Given the description of an element on the screen output the (x, y) to click on. 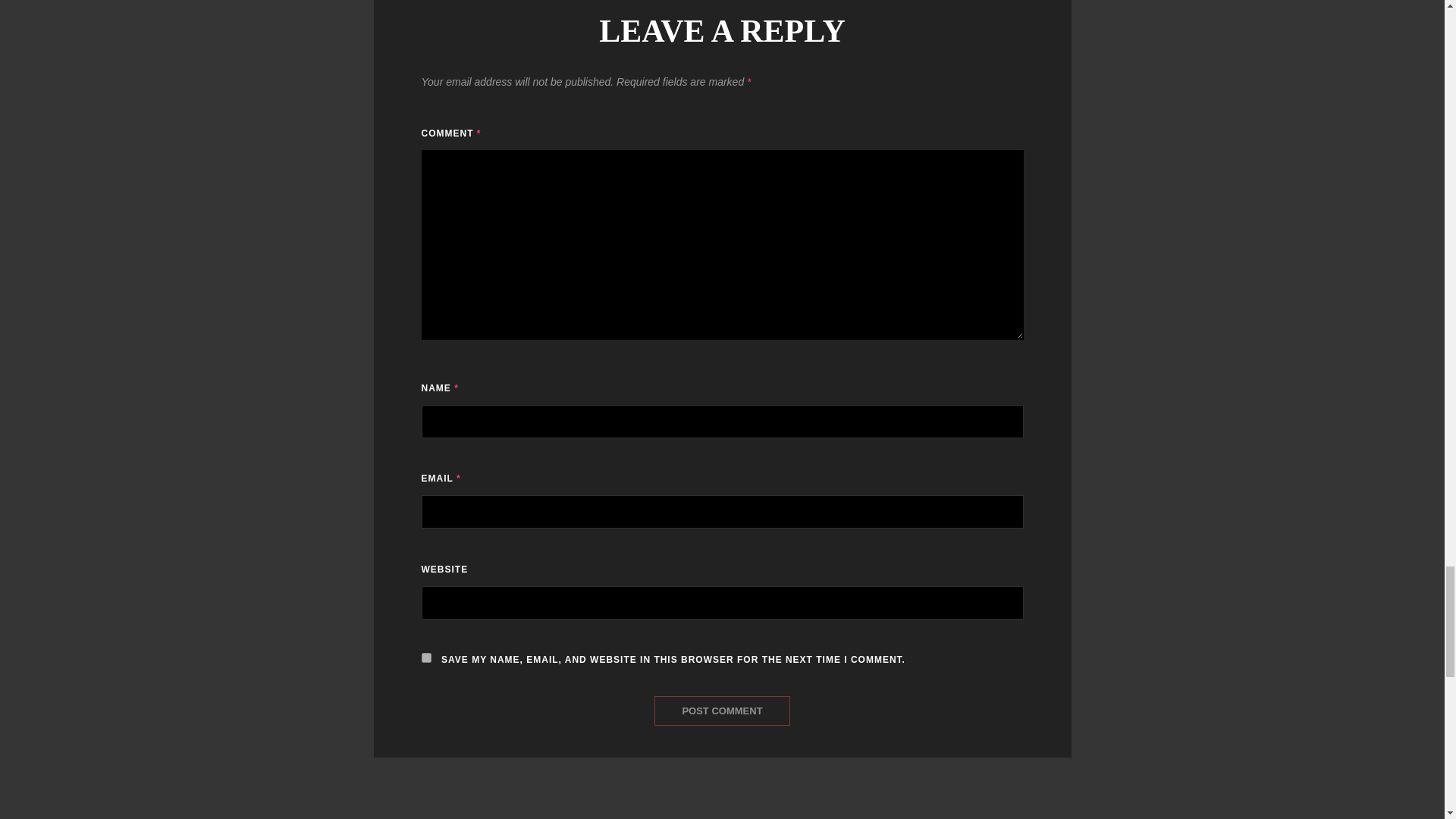
Post Comment (721, 710)
yes (426, 657)
Post Comment (721, 710)
